Given the description of an element on the screen output the (x, y) to click on. 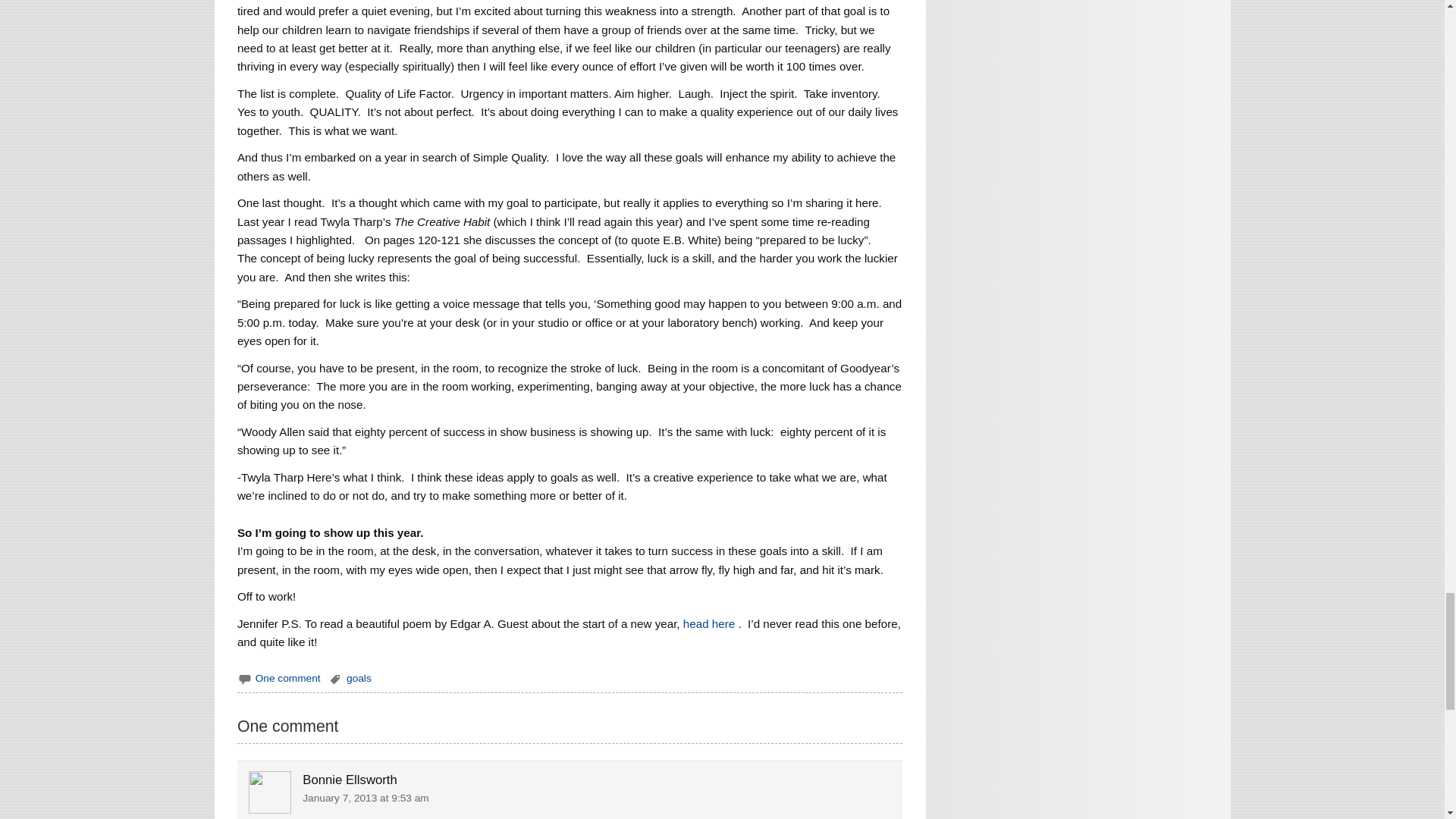
head here (710, 623)
One comment (288, 677)
January 7, 2013 at 9:53 am (365, 797)
goals (358, 677)
Old Years and New by Edgar A. Guest (710, 623)
